Given the description of an element on the screen output the (x, y) to click on. 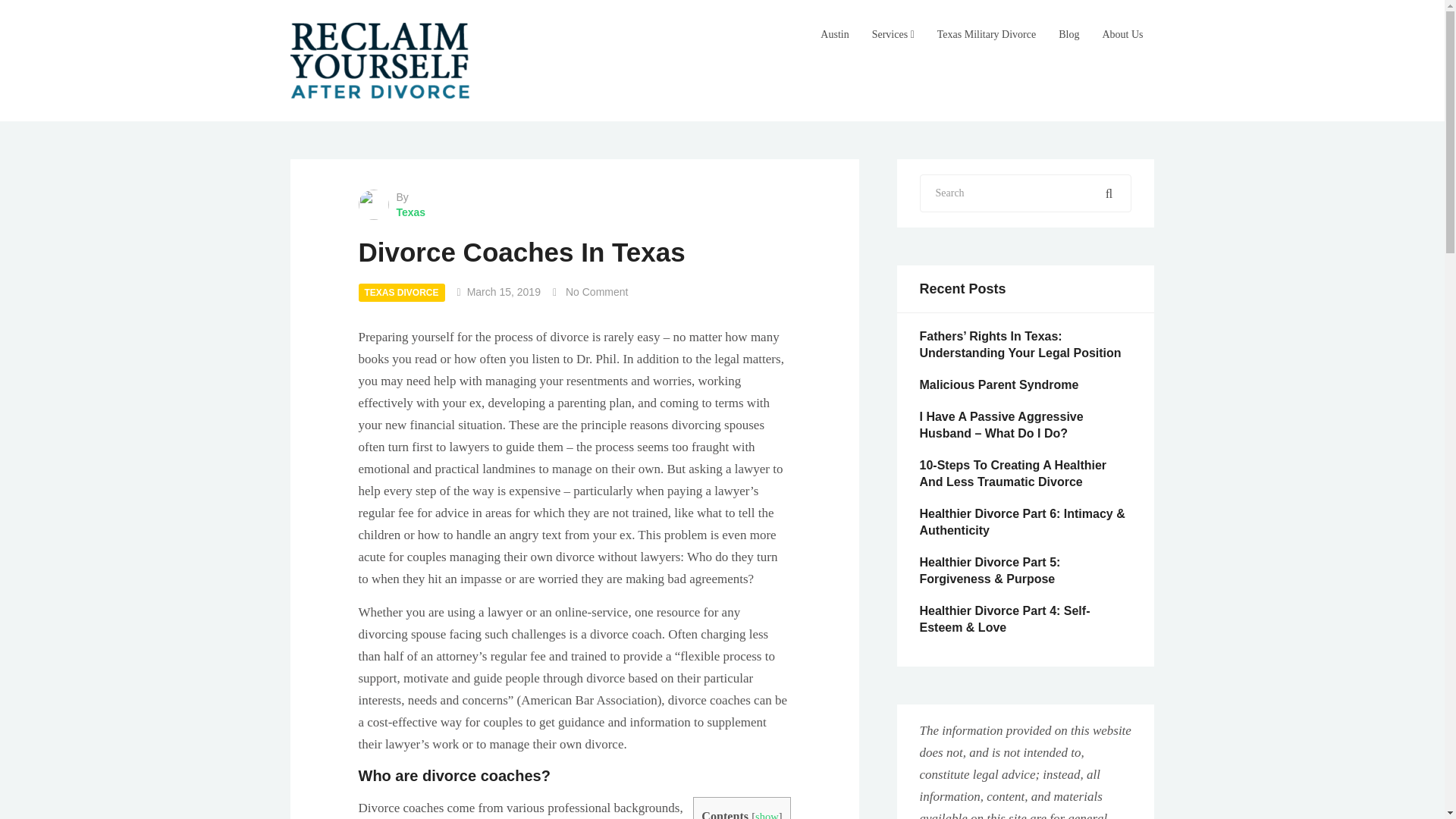
Malicious Parent Syndrome (998, 384)
Services (893, 34)
Services (893, 34)
About Us (1122, 34)
Texas (574, 212)
10-Steps To Creating A Healthier And Less Traumatic Divorce (1012, 473)
TEXAS DIVORCE (401, 292)
Austin (834, 34)
March 15, 2019 (503, 291)
About Us (1122, 34)
